Given the description of an element on the screen output the (x, y) to click on. 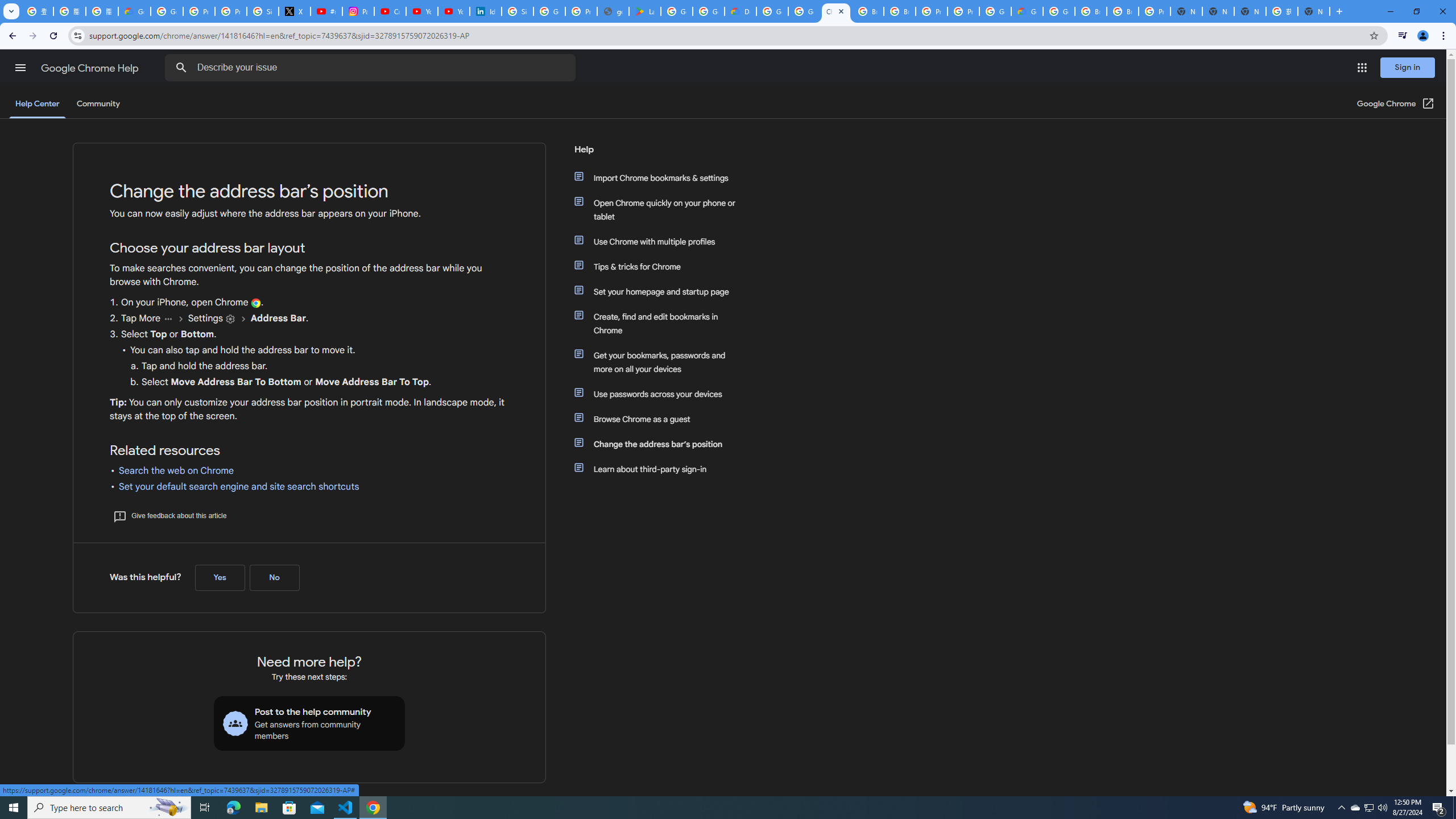
Google Cloud Platform (1059, 11)
Last Shelter: Survival - Apps on Google Play (644, 11)
Google Chrome (Open in a new window) (1395, 103)
Google Cloud Platform (995, 11)
Google Chrome Help (90, 68)
Set your default search engine and site search shortcuts (239, 486)
Give feedback about this article (169, 515)
No (Was this helpful?) (273, 578)
Browse Chrome as a guest (661, 419)
